Given the description of an element on the screen output the (x, y) to click on. 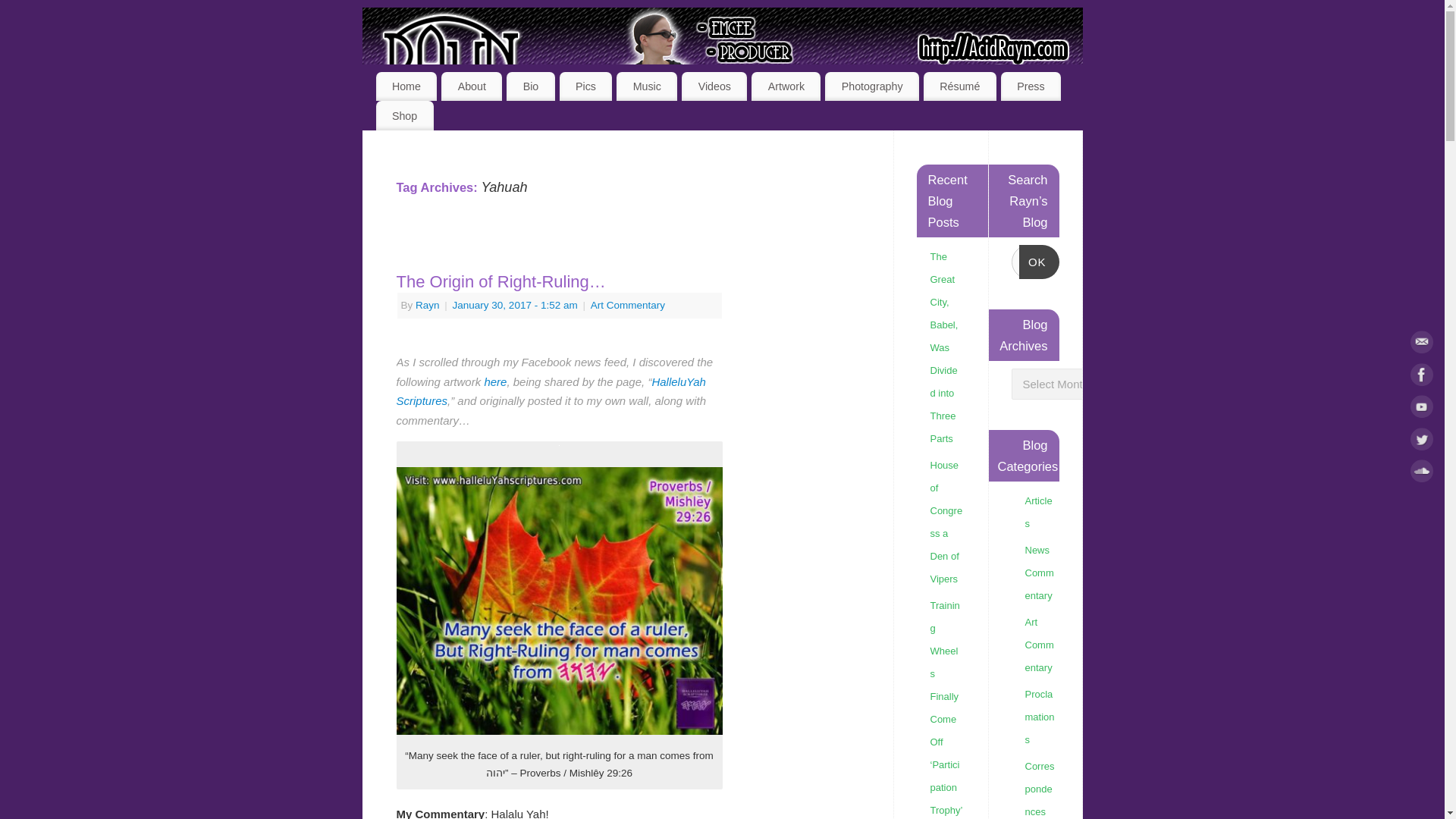
Music (646, 86)
AcidRayn.com (726, 64)
January 30, 2017 - 1:52 am (515, 305)
Rayn (426, 305)
Photography (871, 86)
1:52 am (515, 305)
About (471, 86)
Press (1031, 86)
Home (406, 86)
Bio (530, 86)
